Given the description of an element on the screen output the (x, y) to click on. 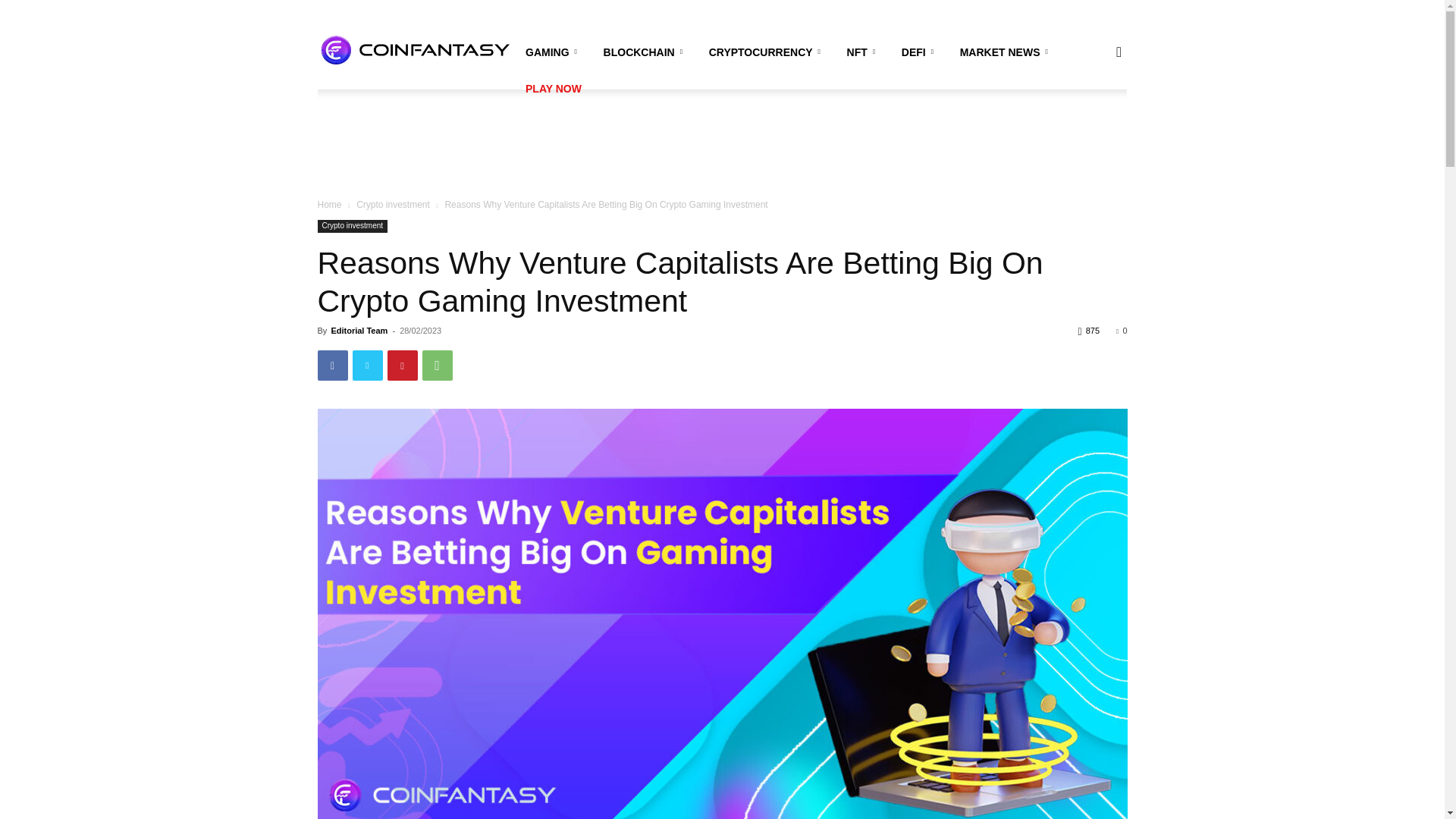
DEFI (920, 52)
BLOCKCHAIN (645, 52)
Facebook (332, 365)
Pinterest (401, 365)
NFT (863, 52)
WhatsApp (436, 365)
CRYPTOCURRENCY (766, 52)
GAMING (553, 52)
Twitter (366, 365)
View all posts in Crypto investment (392, 204)
MARKET NEWS (1006, 52)
